Given the description of an element on the screen output the (x, y) to click on. 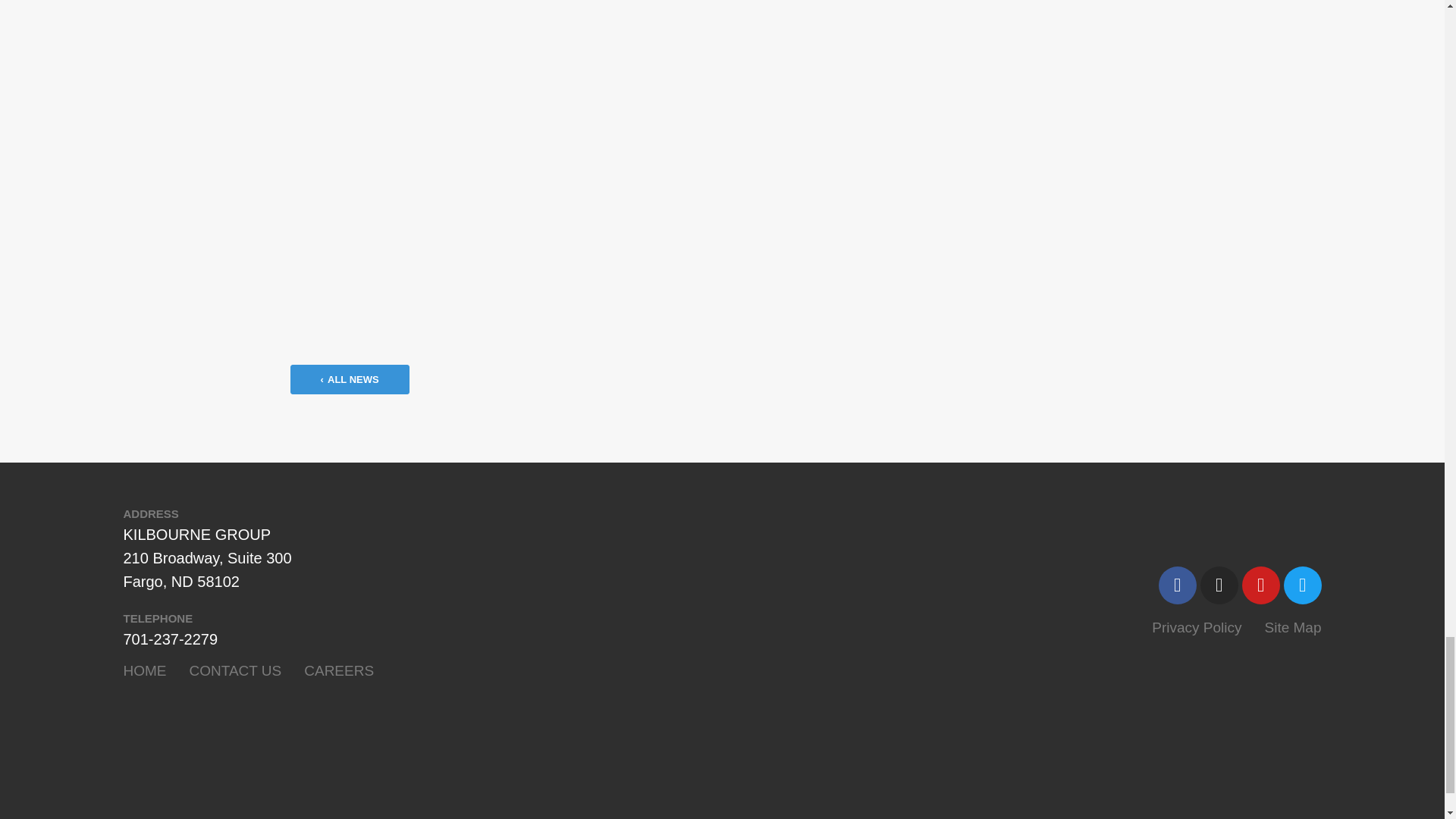
CAREERS (339, 670)
701-237-2279 (169, 638)
CONTACT US (235, 670)
ALL NEWS (349, 378)
HOME (143, 670)
